Given the description of an element on the screen output the (x, y) to click on. 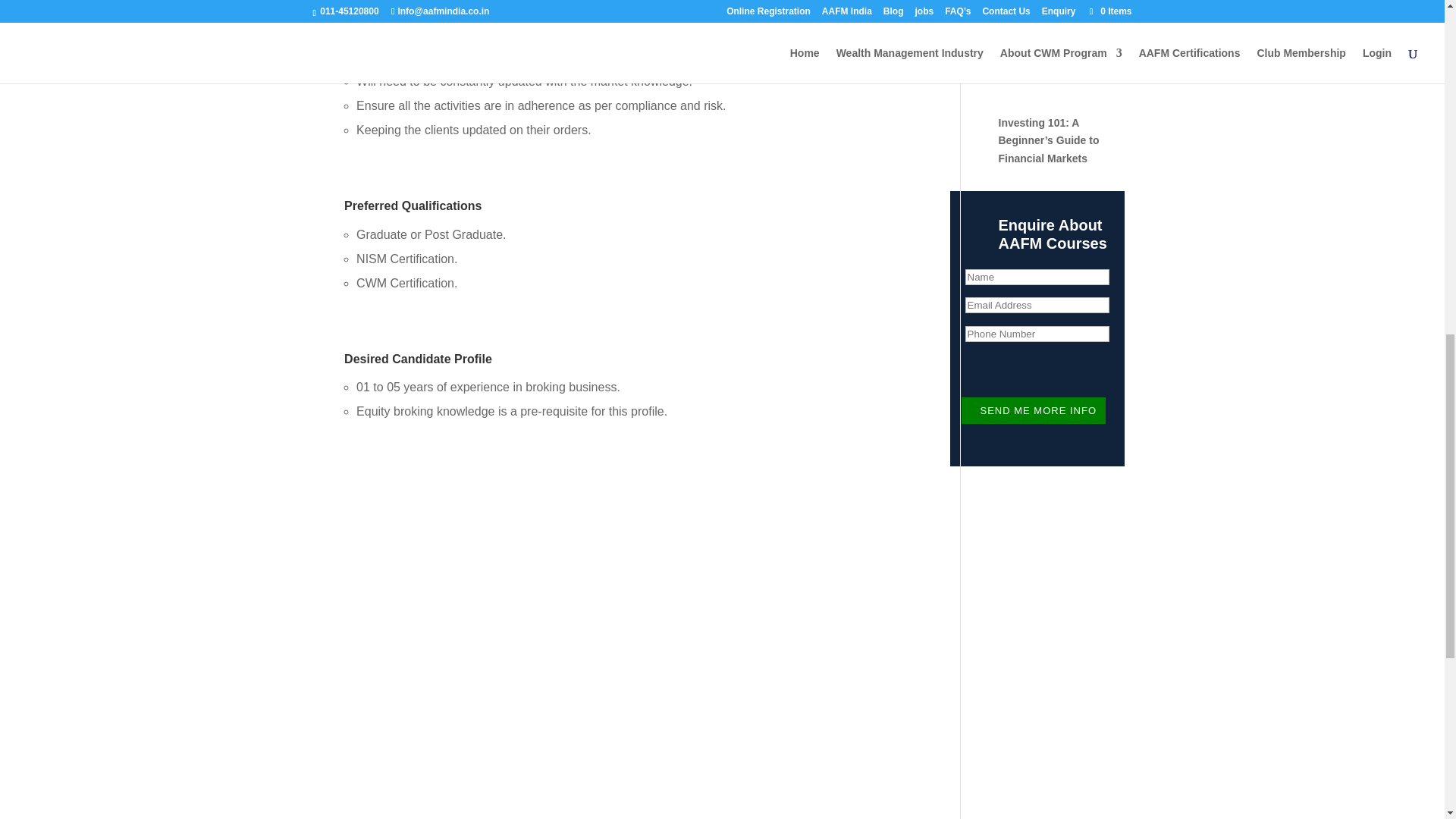
Send me More Info (1032, 410)
